Given the description of an element on the screen output the (x, y) to click on. 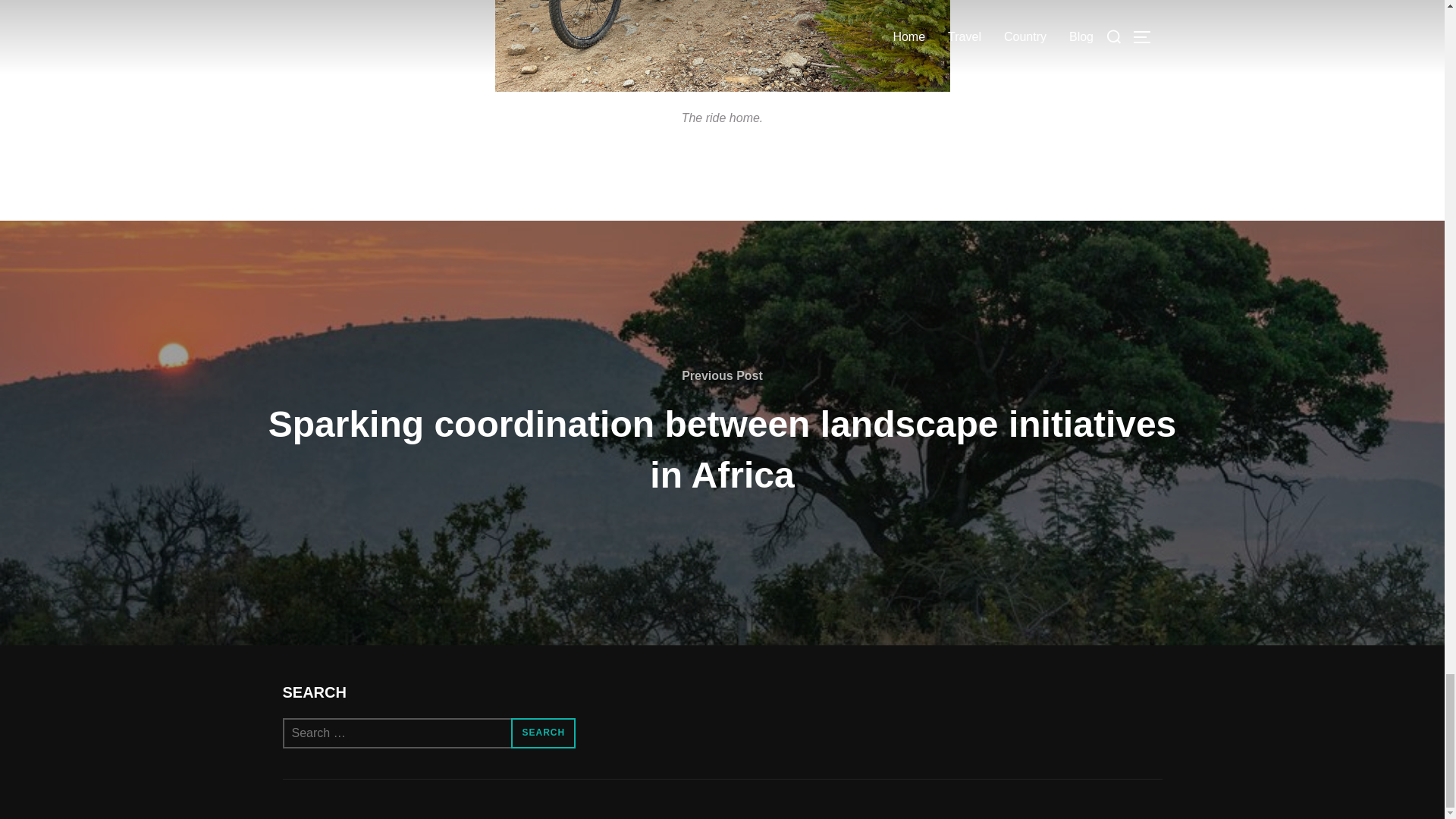
SEARCH (543, 733)
